Given the description of an element on the screen output the (x, y) to click on. 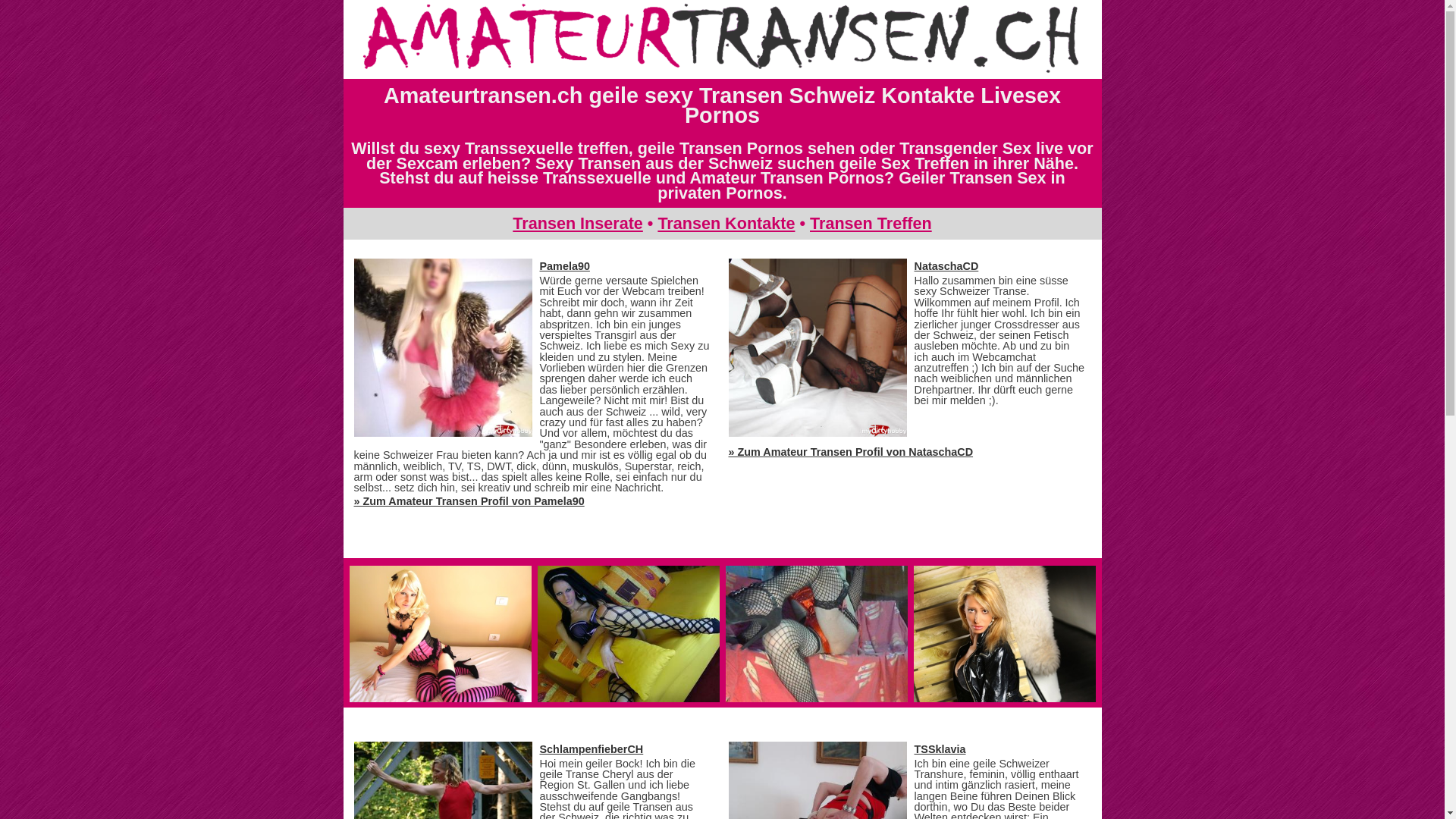
Transen Inserate Element type: text (577, 222)
Pamela90 Element type: text (564, 266)
NataschaCD Element type: text (946, 266)
Transen Treffen Element type: text (870, 222)
Transen Kontakte Element type: text (725, 222)
SchlampenfieberCH Element type: text (591, 749)
TSSklavia Element type: text (940, 749)
